Given the description of an element on the screen output the (x, y) to click on. 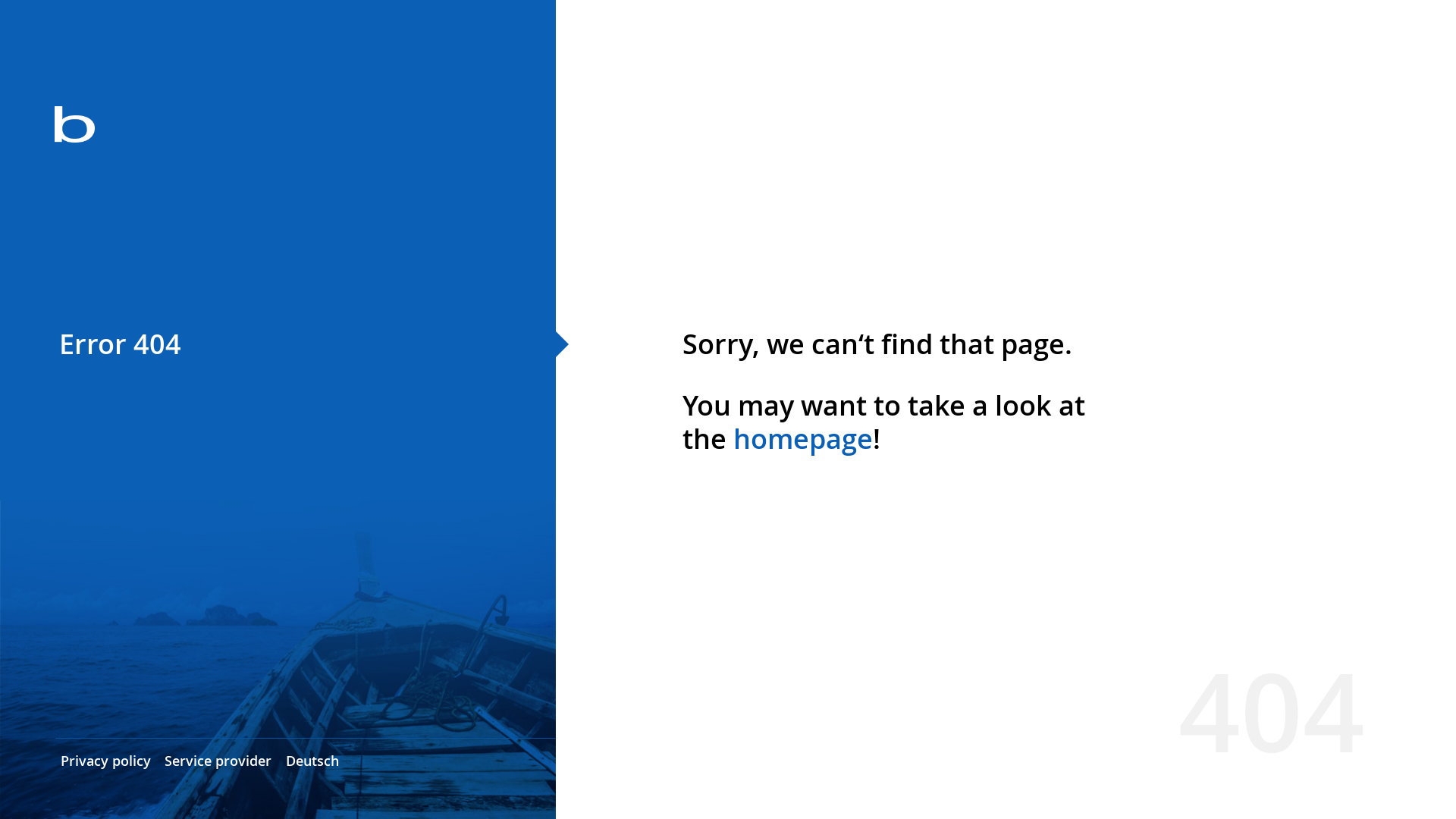
Deutsch Element type: text (311, 760)
homepage Element type: text (802, 438)
Privacy policy Element type: text (105, 760)
Service provider Element type: text (217, 760)
